Given the description of an element on the screen output the (x, y) to click on. 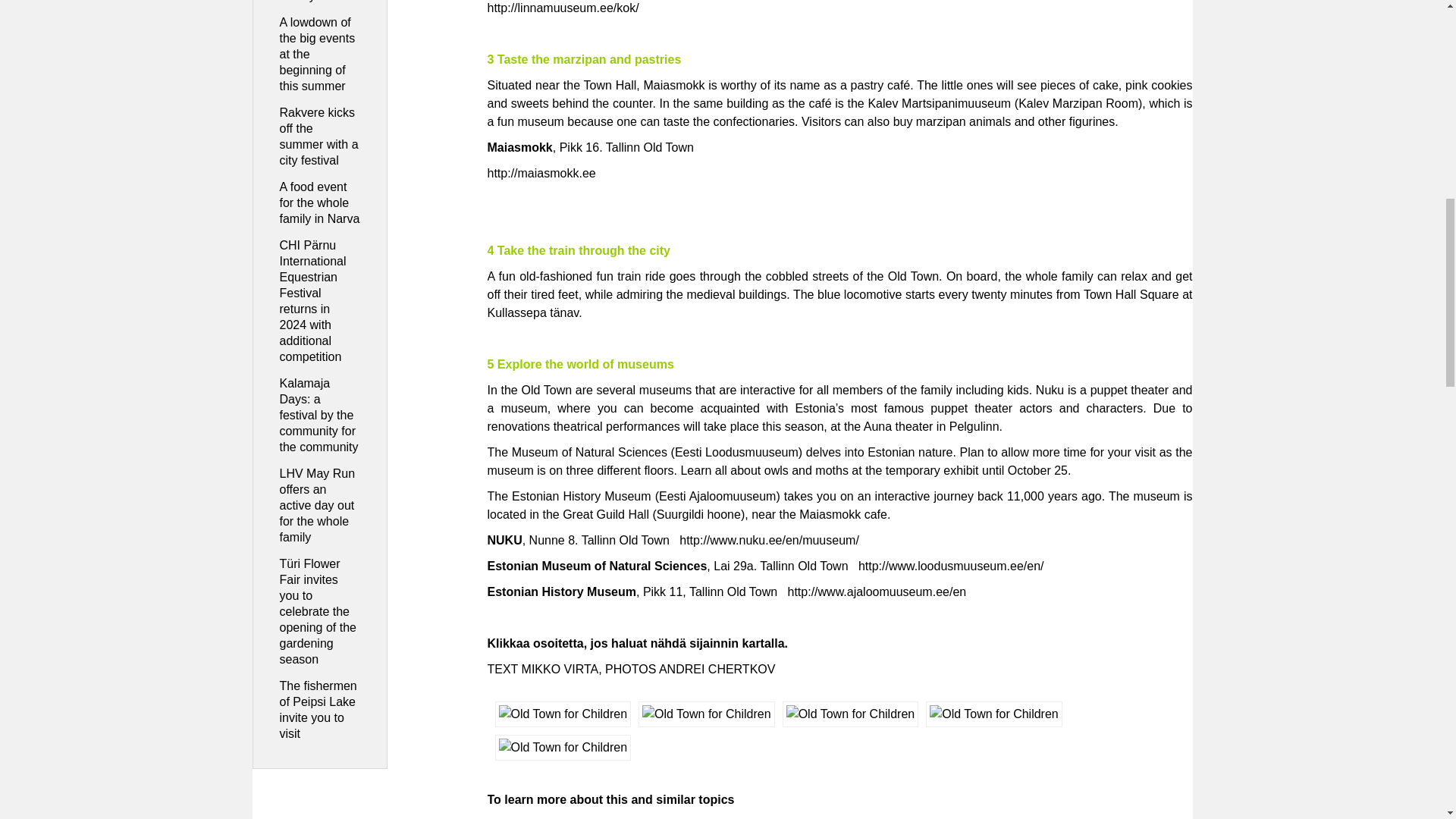
Old Town for Children (562, 747)
Old Town for Children (994, 714)
A food event for the whole family in Narva (319, 202)
Old Town for Children (850, 714)
Old Town for Children (562, 714)
A lowdown of the big events at the beginning of this summer (317, 53)
Old Town for Children (706, 714)
Rakvere kicks off the summer with a city festival (318, 136)
